Given the description of an element on the screen output the (x, y) to click on. 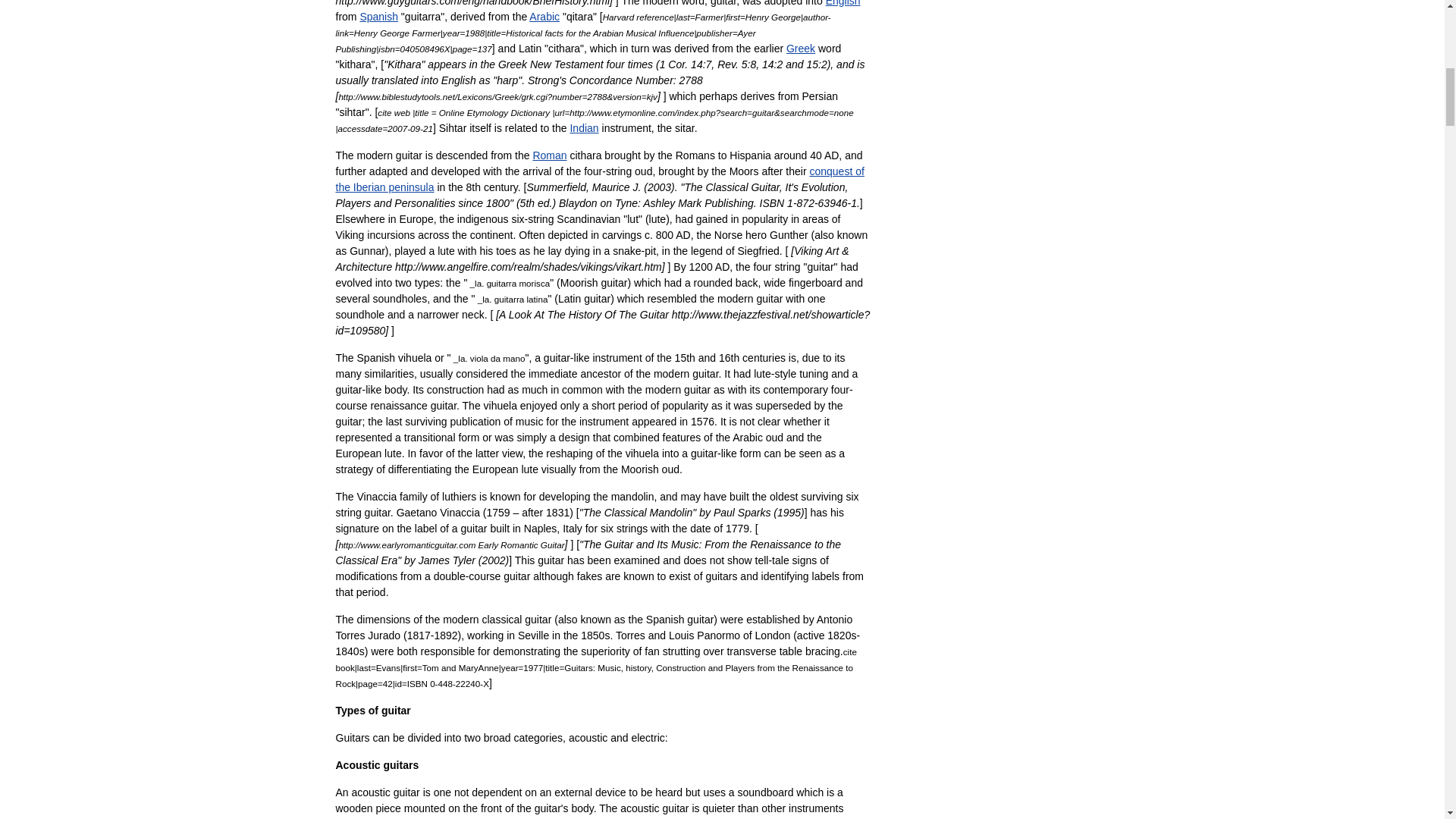
English (842, 3)
Spanish (378, 16)
Arabic (544, 16)
